Given the description of an element on the screen output the (x, y) to click on. 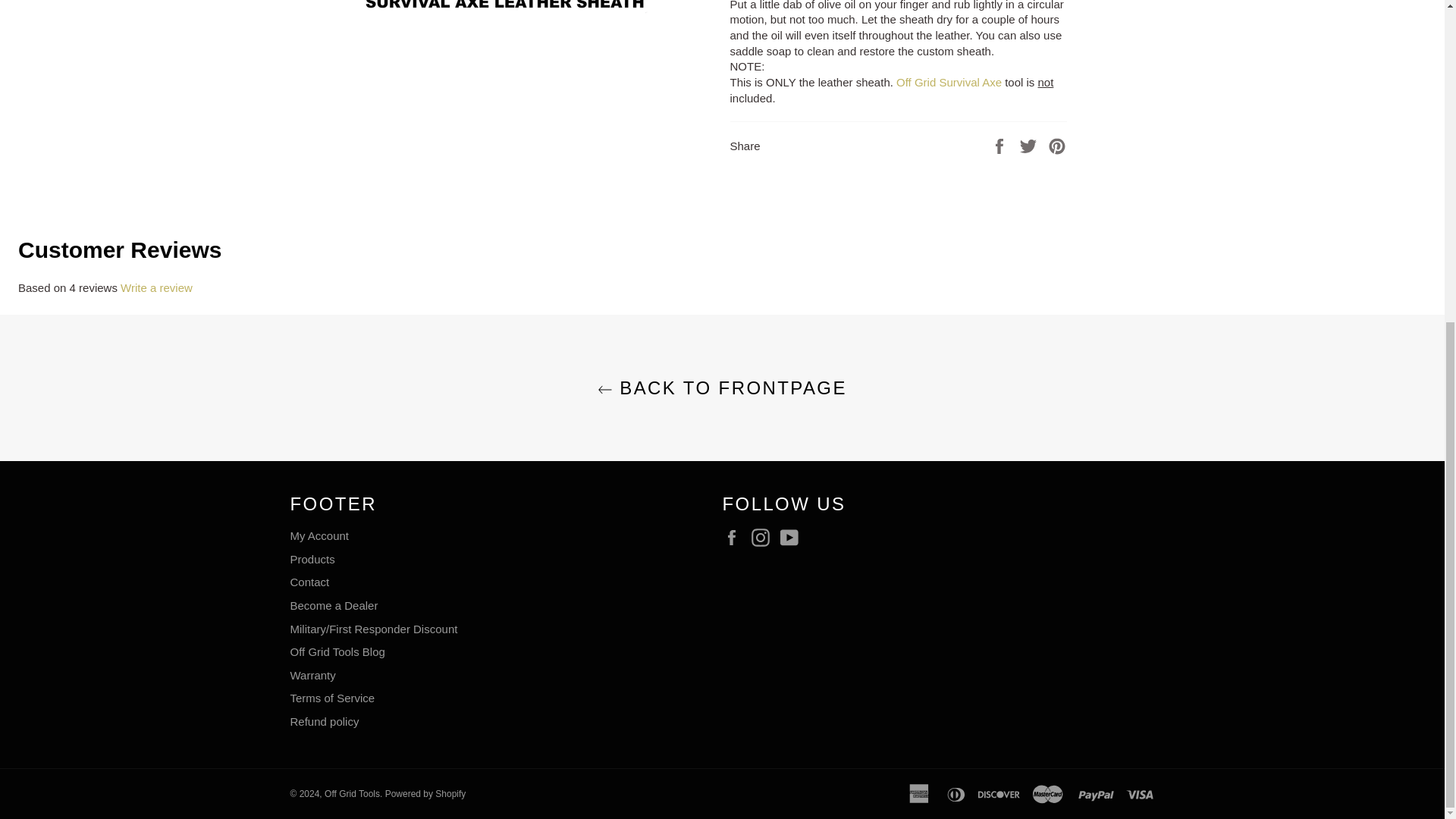
Survival Axe (947, 82)
Tweet on Twitter (1030, 144)
Off Grid Tools on YouTube (793, 537)
Pin on Pinterest (1056, 144)
Share on Facebook (1000, 144)
Off Grid Tools on Facebook (735, 537)
Off Grid Tools on Instagram (764, 537)
